Given the description of an element on the screen output the (x, y) to click on. 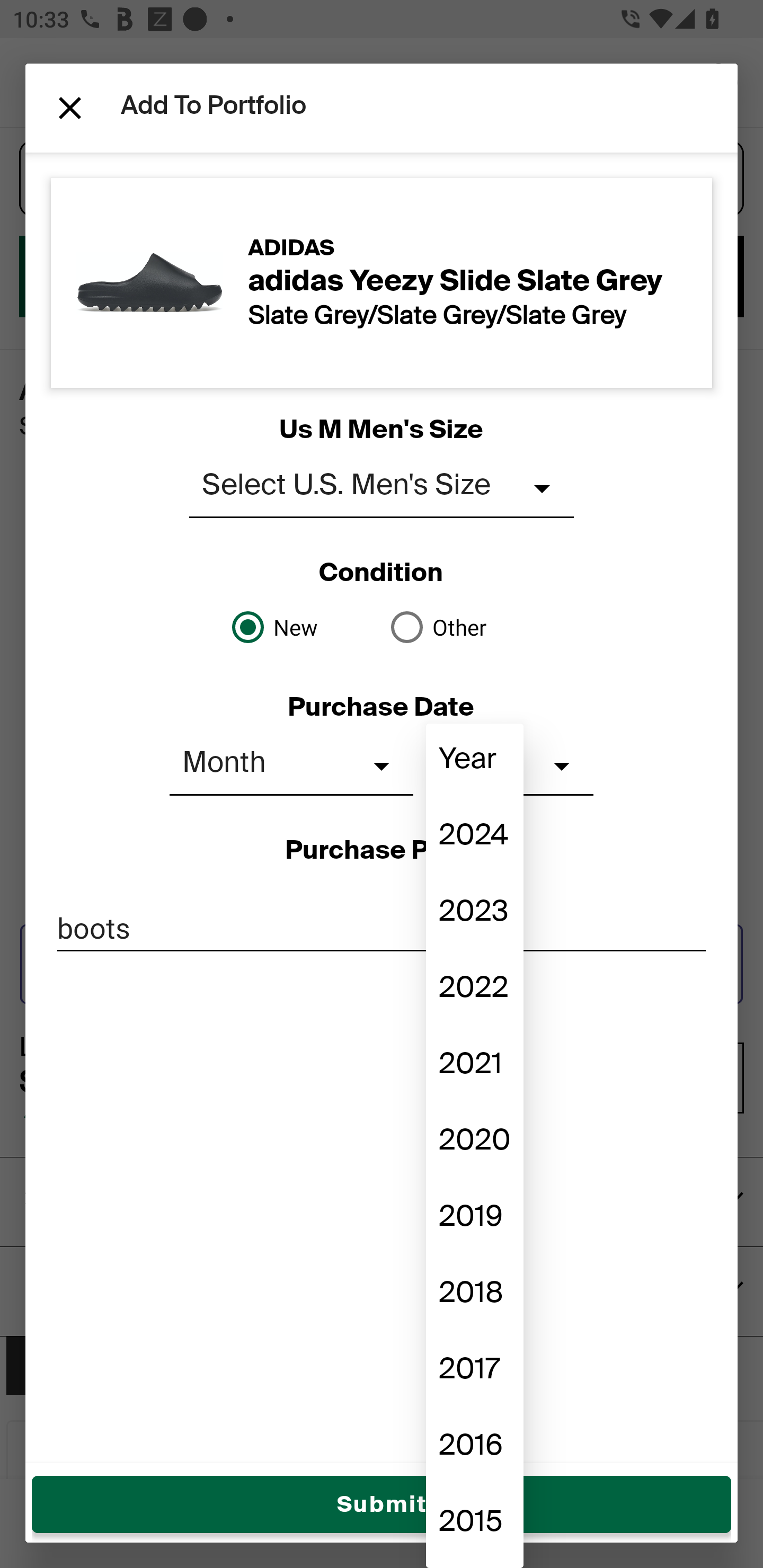
Year (474, 760)
2024 (474, 837)
2023 (474, 913)
2022 (474, 989)
2021 (474, 1066)
2020 (474, 1142)
2019 (474, 1218)
2018 (474, 1295)
2017 (474, 1371)
2016 (474, 1447)
2015 (474, 1524)
